Given the description of an element on the screen output the (x, y) to click on. 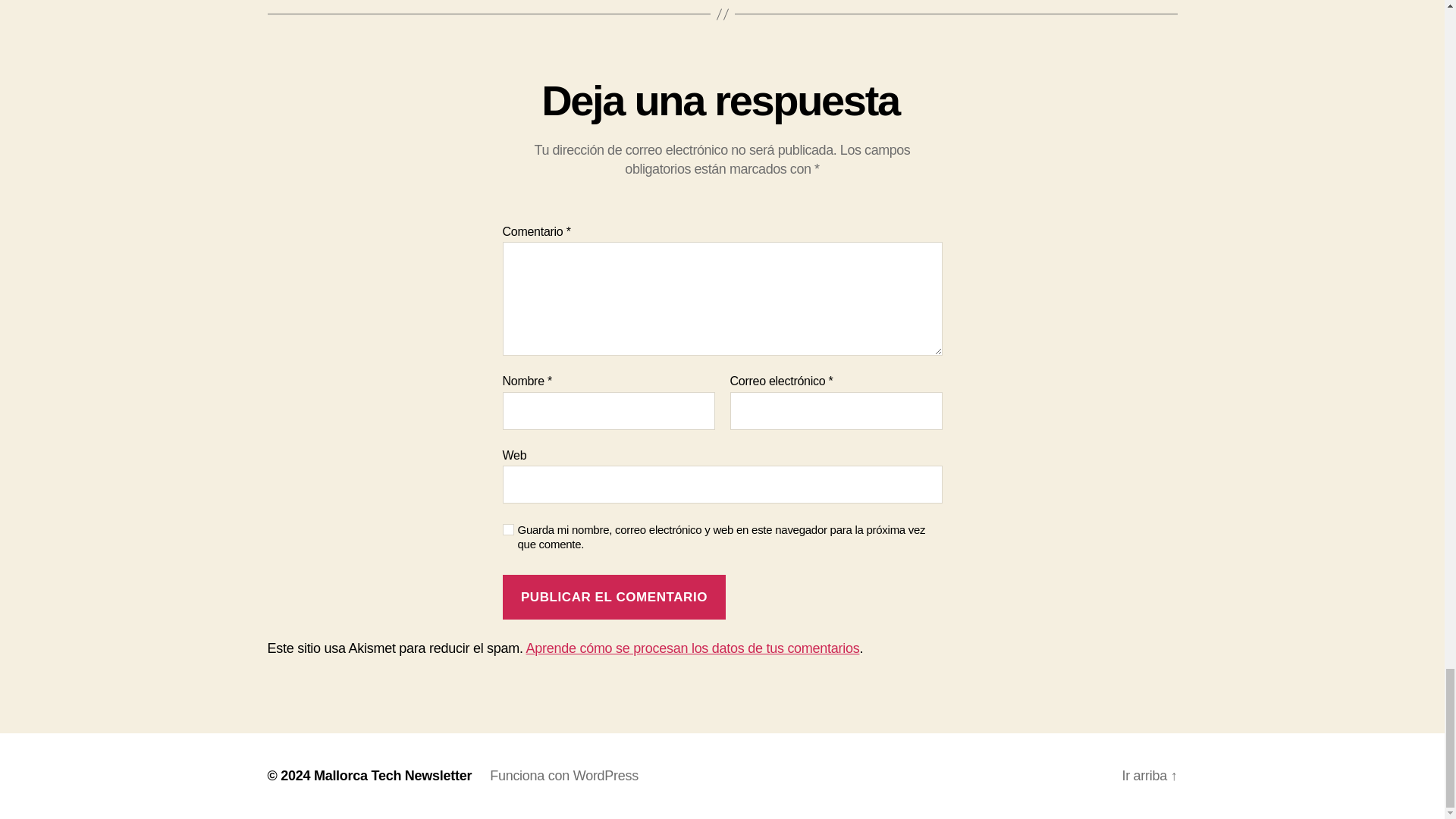
Publicar el comentario (613, 596)
yes (507, 529)
